Given the description of an element on the screen output the (x, y) to click on. 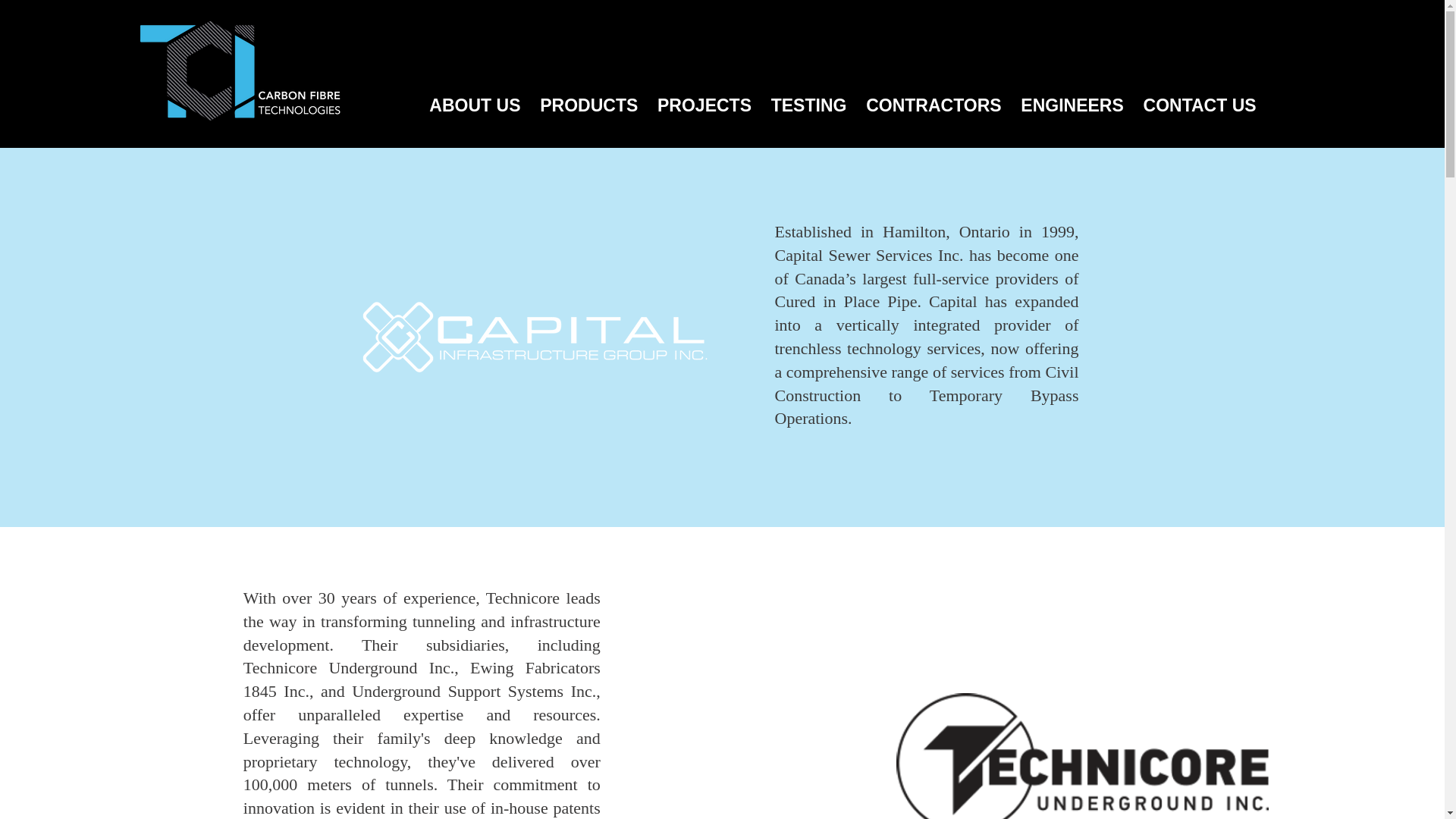
CONTRACTORS (933, 105)
CONTACT US (1200, 105)
PROJECTS (704, 105)
ENGINEERS (1071, 105)
ABOUT US (475, 105)
TESTING (808, 105)
